Given the description of an element on the screen output the (x, y) to click on. 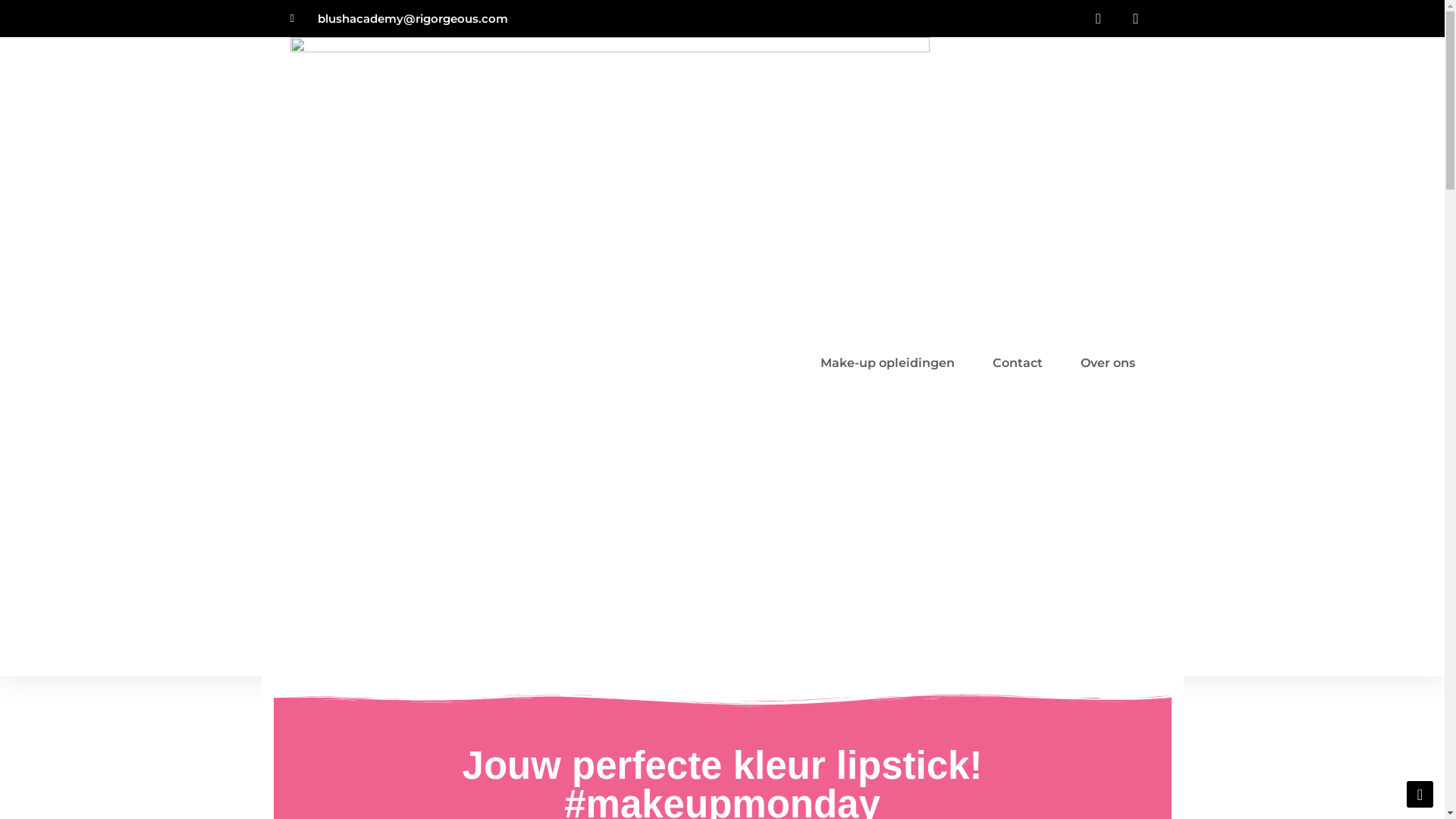
blushacademy@rigorgeous.com Element type: text (398, 18)
Make-up opleidingen Element type: text (887, 362)
Contact Element type: text (1017, 362)
Over ons Element type: text (1107, 362)
